Given the description of an element on the screen output the (x, y) to click on. 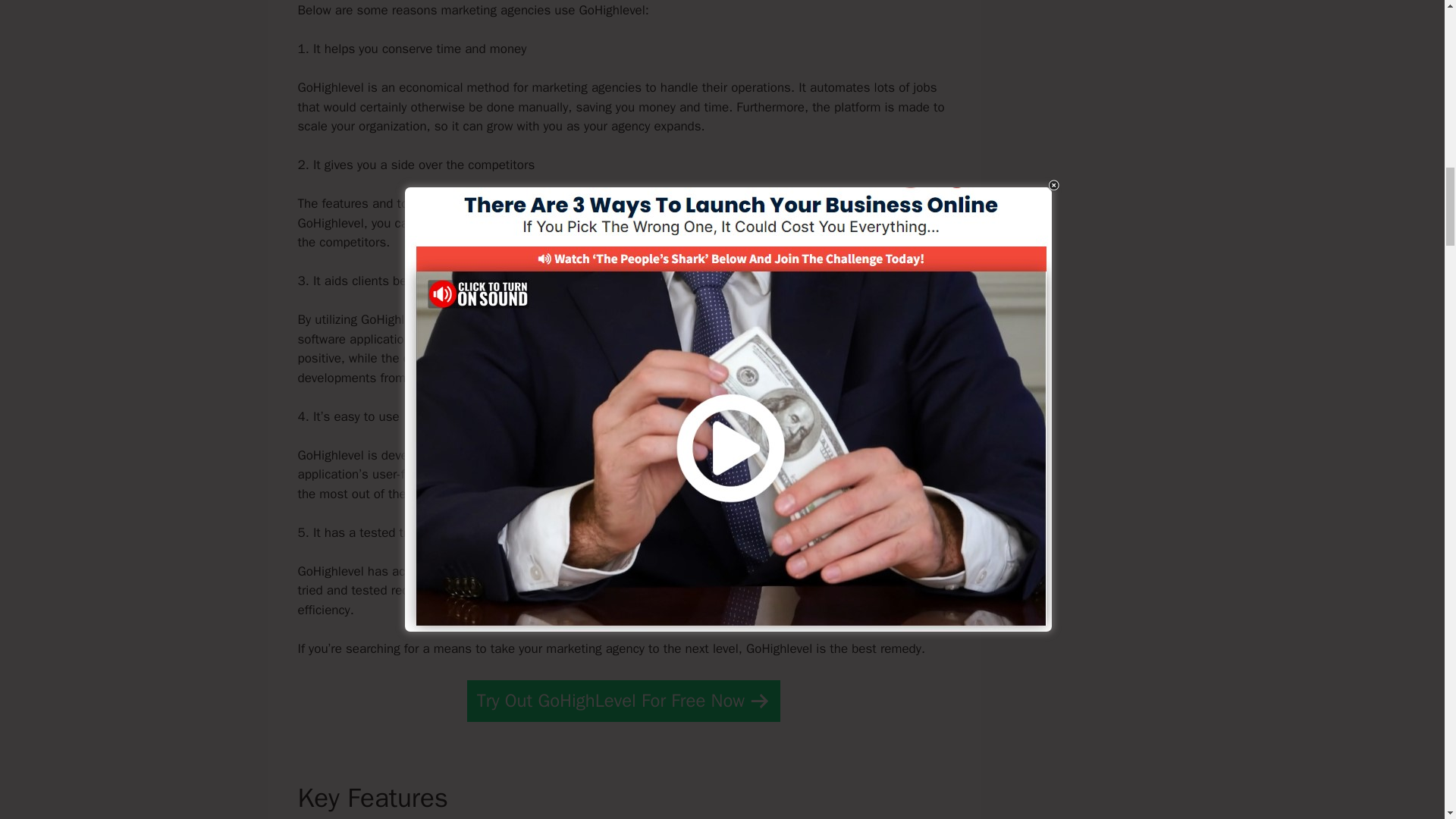
Try Out GoHighLevel For Free Now (623, 700)
